Given the description of an element on the screen output the (x, y) to click on. 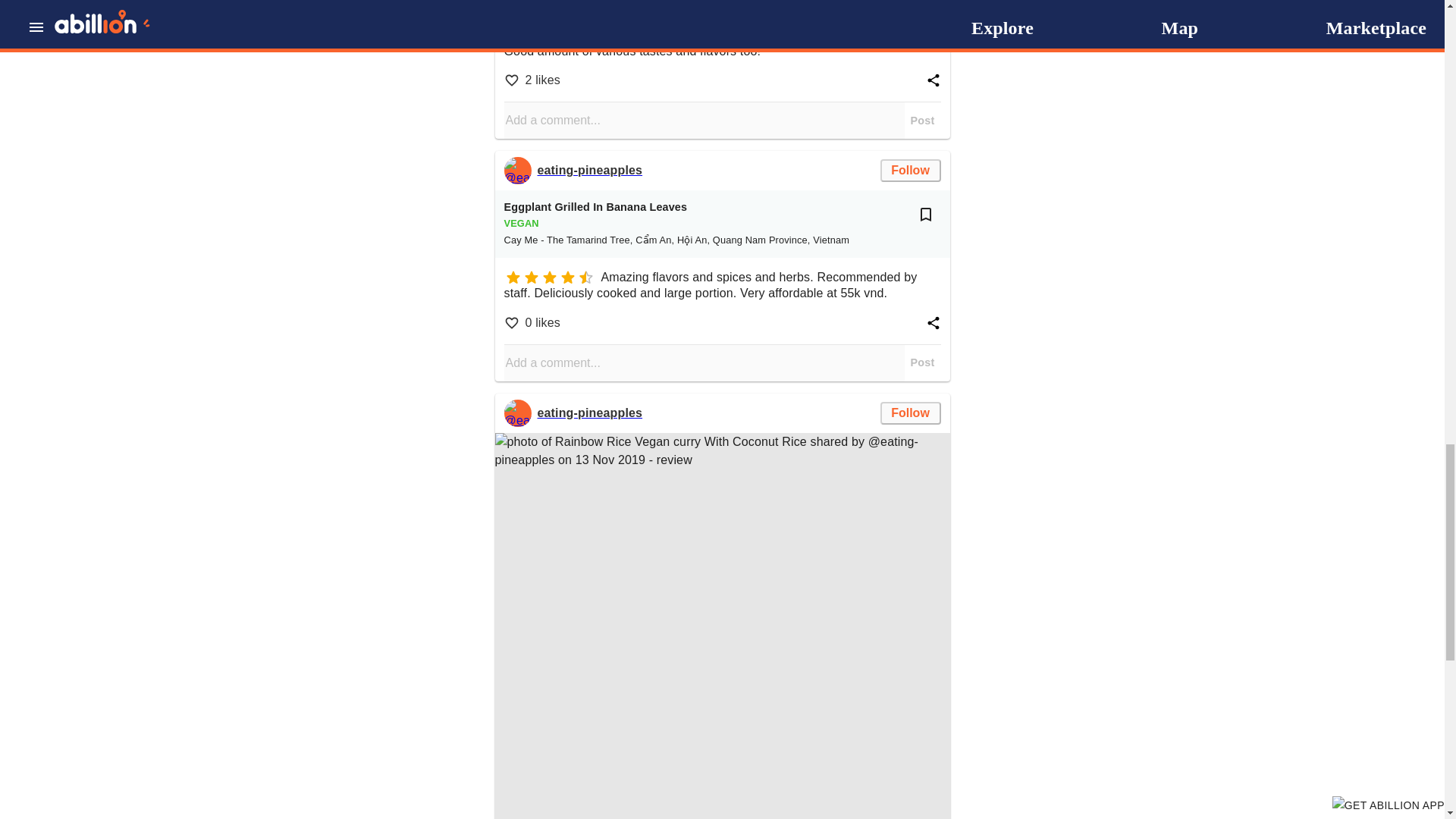
Eggplant Grilled In Banana Leaves (595, 207)
Follow (909, 413)
Follow (909, 169)
eating-pineapples (517, 170)
eating-pineapples (517, 412)
eating-pineapples (589, 170)
eating-pineapples (589, 413)
